Given the description of an element on the screen output the (x, y) to click on. 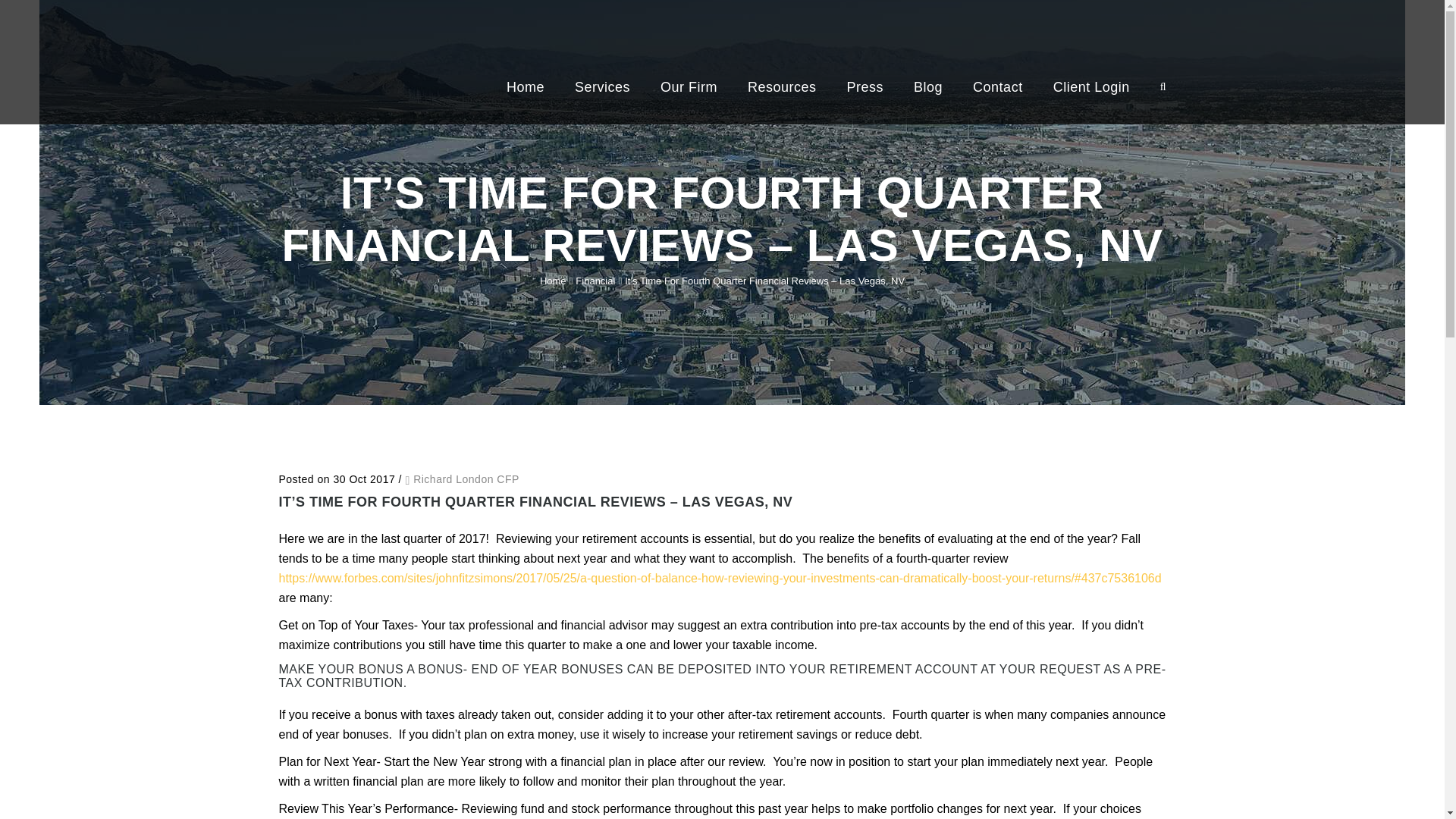
Link Financial Advisory (392, 41)
Link Financial Advisory (392, 26)
Our Firm (688, 88)
Home (553, 280)
Richard London CFP (466, 479)
Press (865, 88)
Resources (781, 88)
View all posts by Richard London CFP (466, 479)
Services (602, 88)
Contact (998, 88)
